Given the description of an element on the screen output the (x, y) to click on. 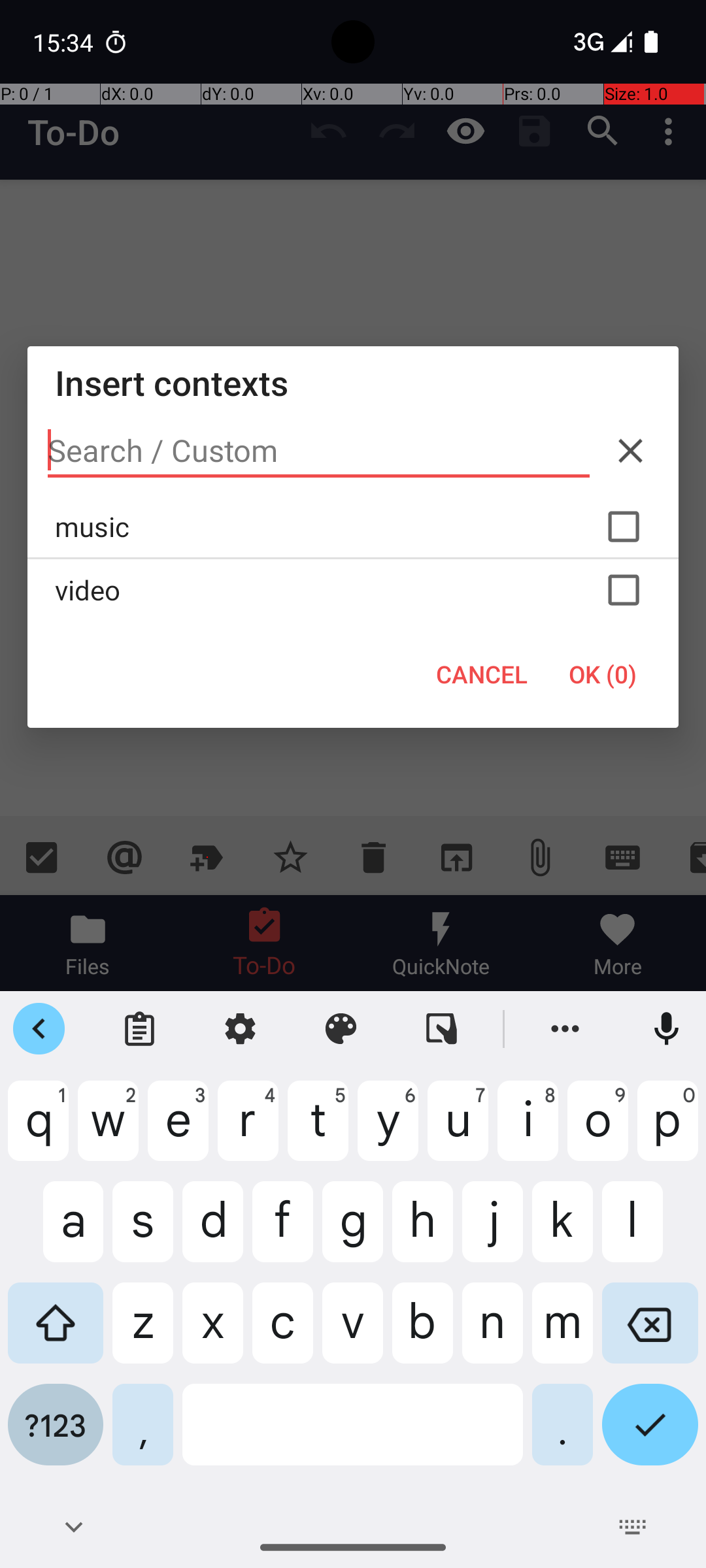
Insert contexts Element type: android.widget.TextView (352, 382)
Search / Custom Element type: android.widget.EditText (318, 450)
music Element type: android.widget.CheckedTextView (352, 526)
video Element type: android.widget.CheckedTextView (352, 589)
